Given the description of an element on the screen output the (x, y) to click on. 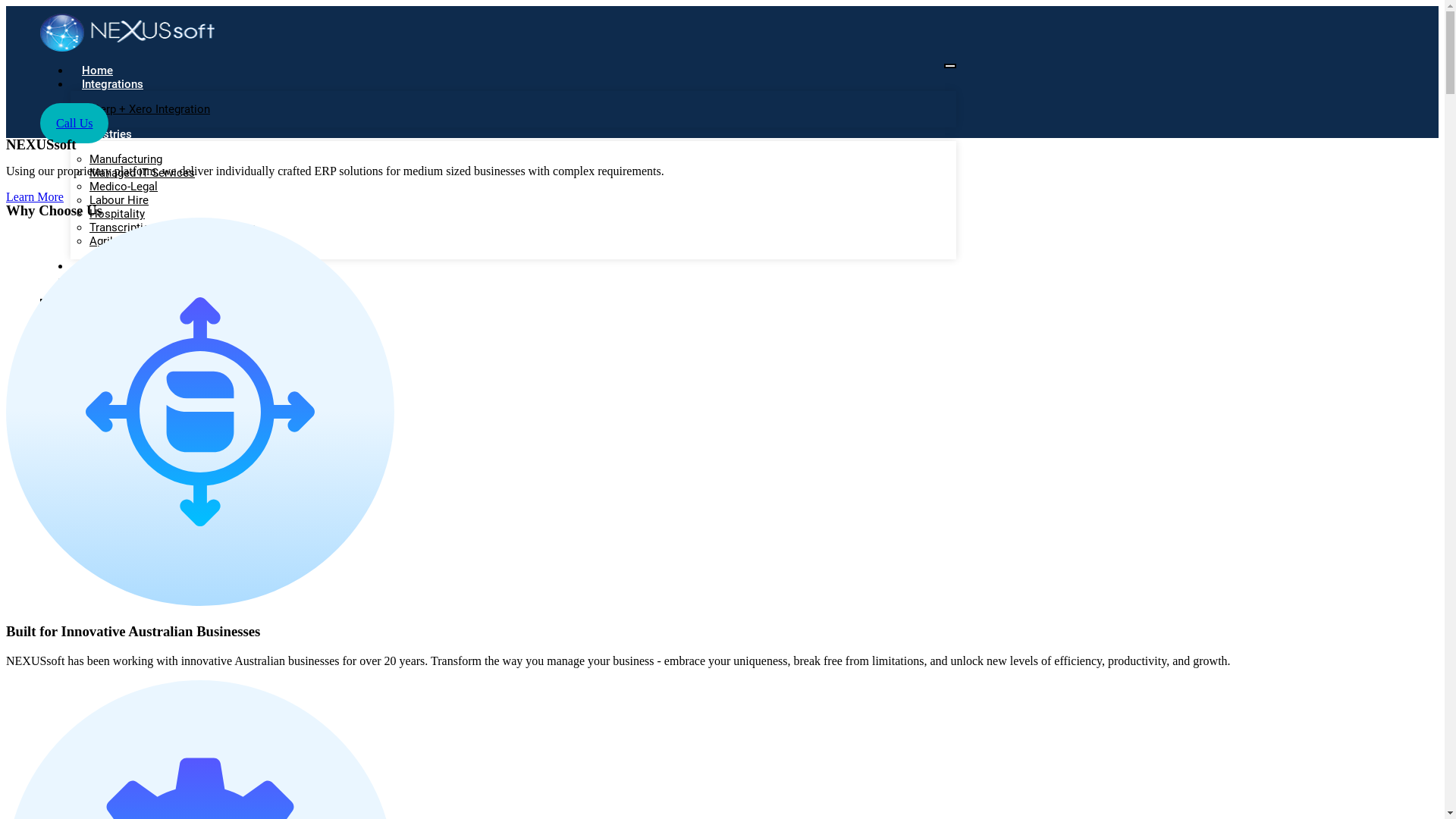
Integrations Element type: text (112, 84)
Industries Element type: text (106, 134)
Medico-Legal Element type: text (123, 186)
Managed IT Services Element type: text (141, 173)
Contact Us Element type: text (110, 279)
Agribusiness Element type: text (122, 241)
Hospitality Element type: text (116, 213)
Call Us Element type: text (74, 123)
Testimonials Element type: text (114, 266)
Transcription and Administration Element type: text (172, 227)
iCerp + Xero Integration Element type: text (149, 109)
Home Element type: text (97, 70)
Labour Hire Element type: text (118, 200)
Learn More Element type: text (722, 196)
Manufacturing Element type: text (125, 159)
X Element type: text (49, 306)
